Given the description of an element on the screen output the (x, y) to click on. 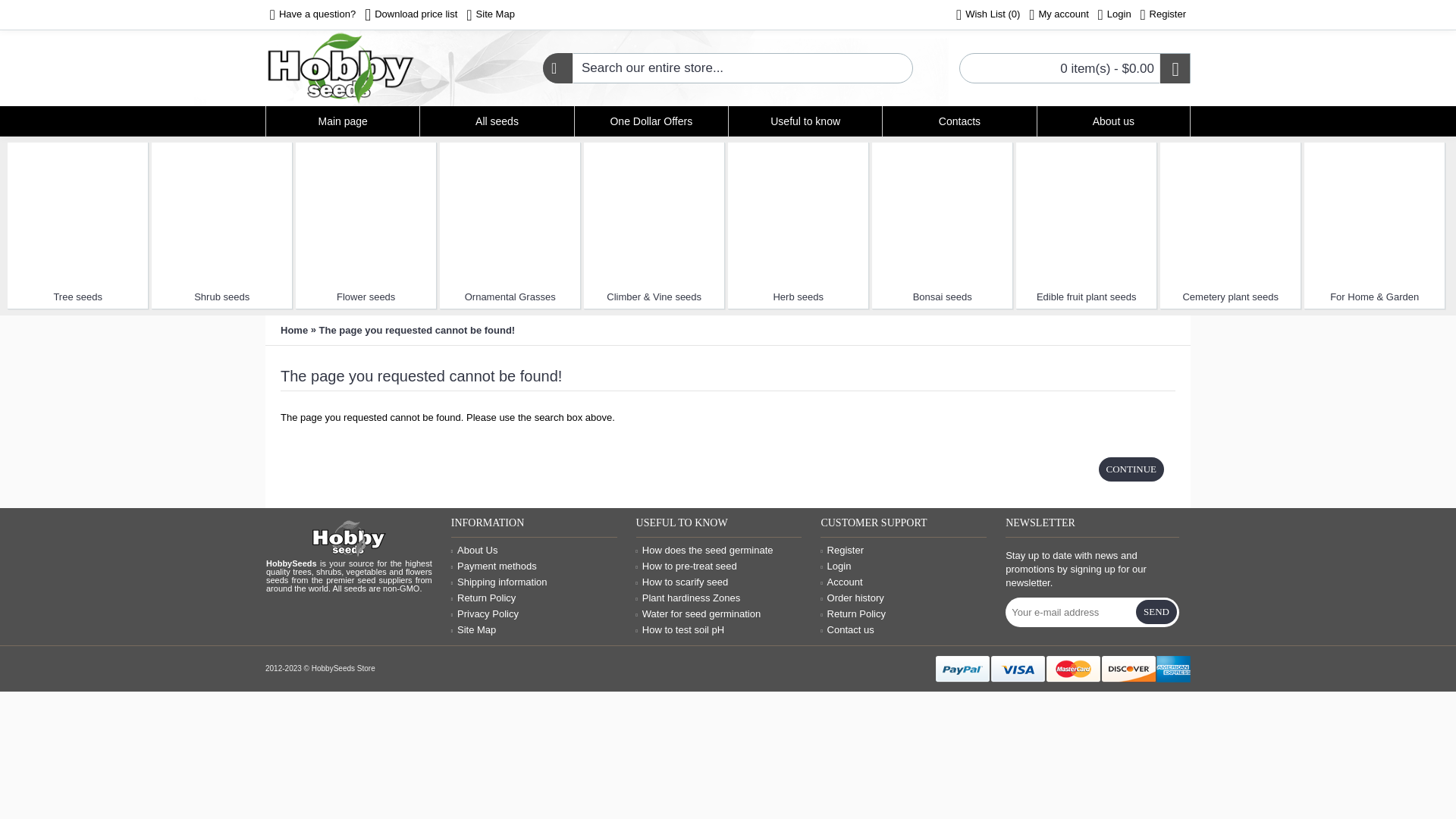
Flower seeds (365, 212)
Register (1163, 15)
My account (1059, 15)
Edible fruit plant seeds (1086, 212)
Site Map (490, 15)
Ornamental Grasses (509, 212)
About us (1112, 121)
Flower seeds (365, 295)
Tree seeds (77, 295)
Useful to know (805, 121)
